Given the description of an element on the screen output the (x, y) to click on. 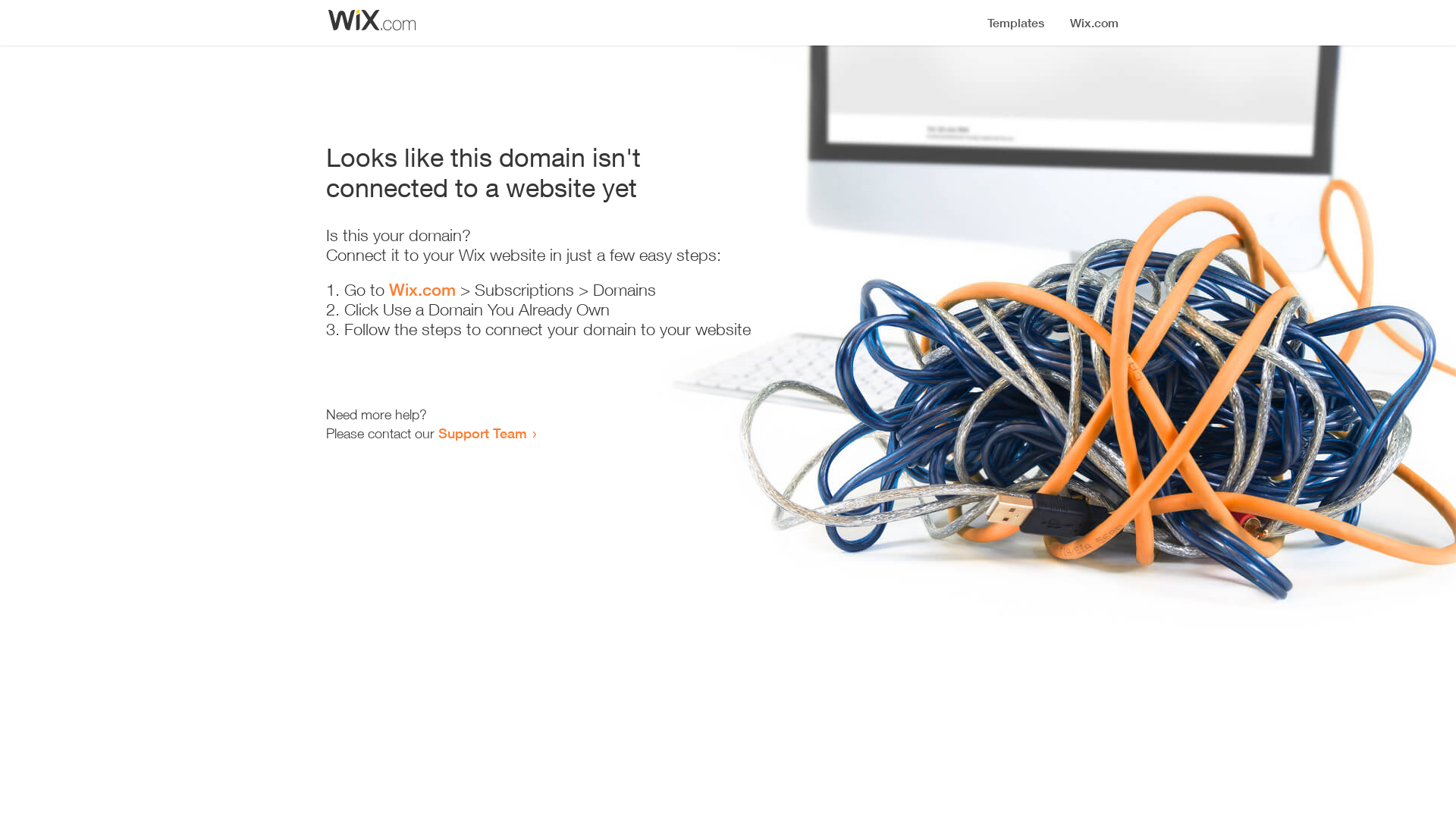
Support Team Element type: text (482, 432)
Wix.com Element type: text (422, 289)
